Given the description of an element on the screen output the (x, y) to click on. 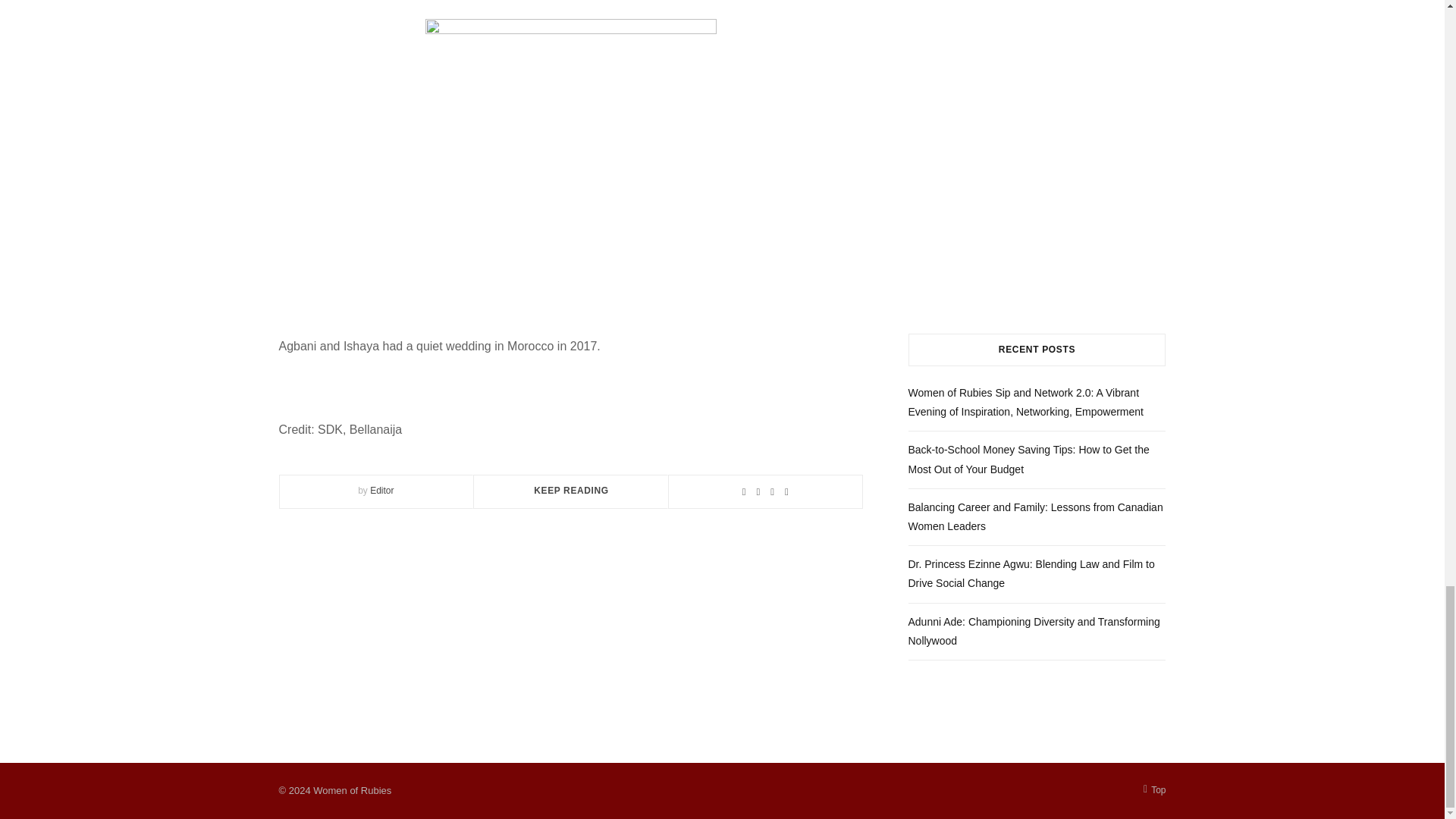
Posts by Editor (381, 490)
Editor (381, 490)
KEEP READING (571, 490)
